Given the description of an element on the screen output the (x, y) to click on. 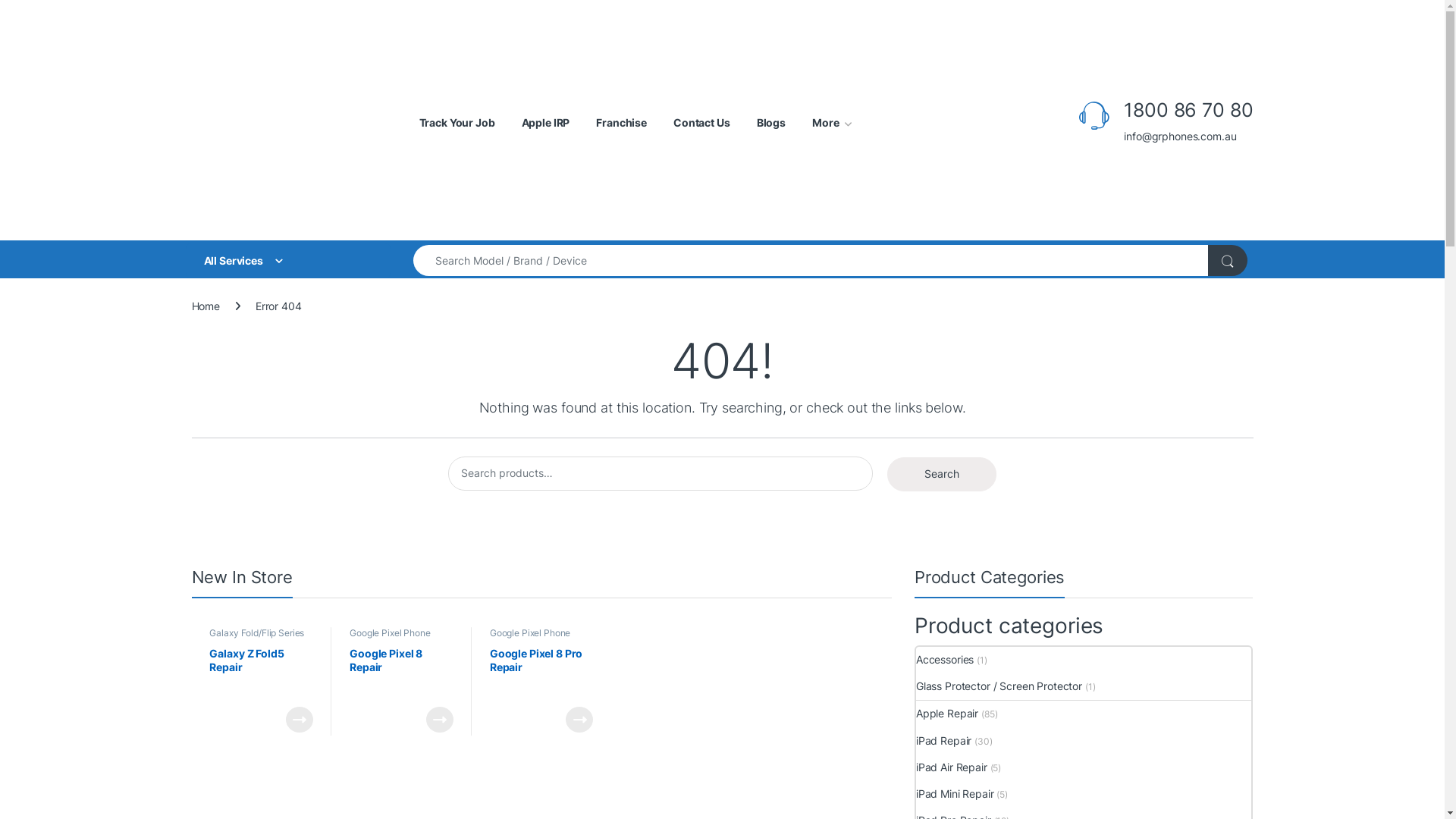
View Product Element type: text (439, 719)
Google Pixel Phone Repair Element type: text (529, 637)
Track Your Job Element type: text (456, 122)
1800 86 70 80 Element type: text (1187, 110)
Contact Us Element type: text (701, 122)
Galaxy Z Fold5 Repair Element type: text (261, 672)
Google Pixel Phone Repair Element type: text (389, 637)
Glass Protector / Screen Protector Element type: text (999, 686)
Apple IRP Element type: text (545, 122)
info@grphones.com.au Element type: text (1187, 136)
Google Pixel 8 Repair Element type: text (401, 672)
Franchise Element type: text (621, 122)
Google Pixel 8 Pro Repair Element type: text (541, 672)
Blogs Element type: text (770, 122)
Galaxy Fold/Flip Series Repair Element type: text (256, 637)
Samsung Phone Repair Element type: text (258, 647)
Search Element type: text (941, 474)
iPad Repair Element type: text (943, 740)
Accessories Element type: text (944, 659)
More Element type: text (831, 122)
View Product Element type: text (579, 719)
Home Element type: text (205, 305)
iPad Air Repair Element type: text (951, 766)
iPad Mini Repair Element type: text (955, 793)
View Product Element type: text (299, 719)
All Services Element type: text (287, 260)
Apple Repair Element type: text (947, 713)
